Given the description of an element on the screen output the (x, y) to click on. 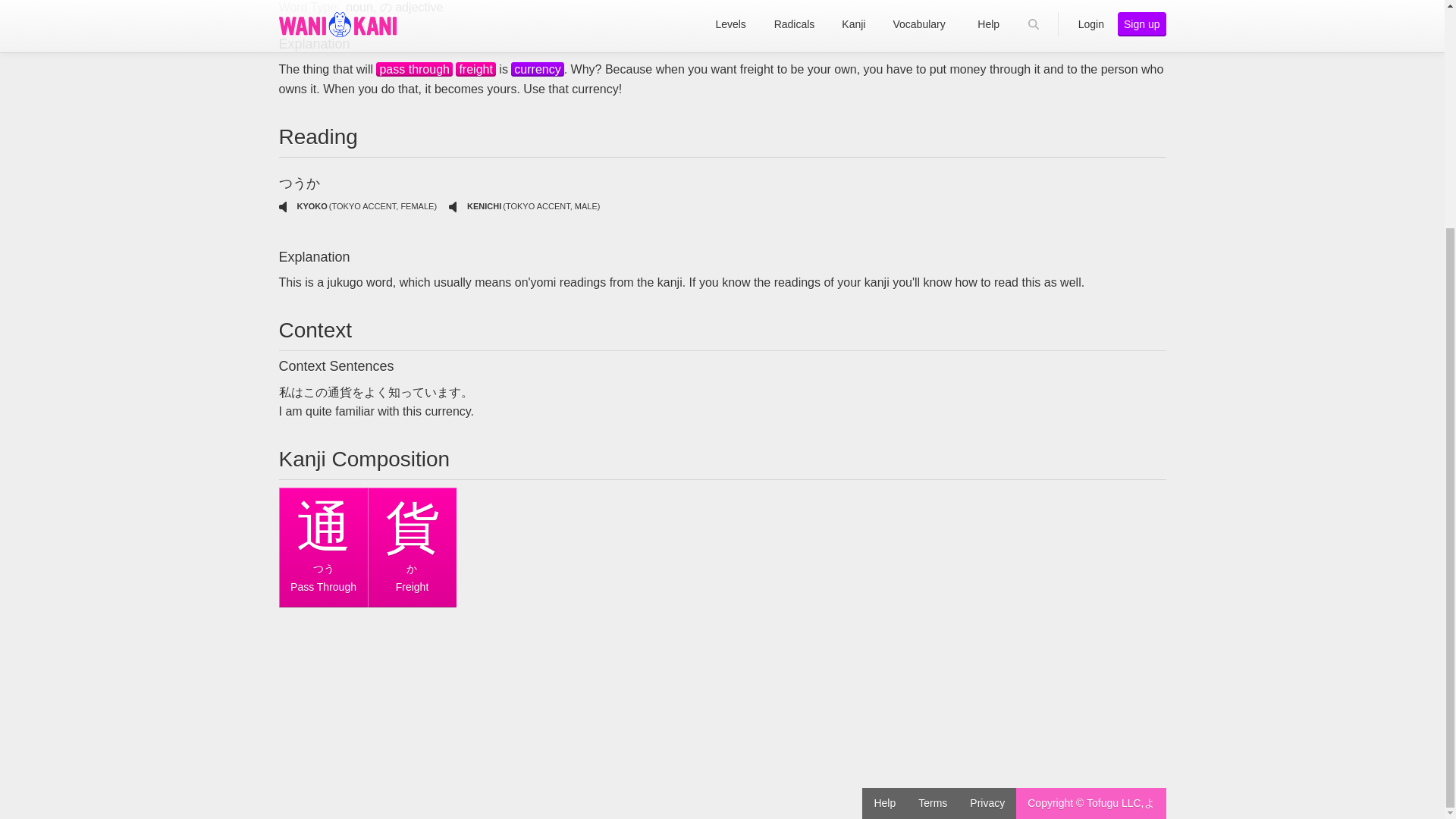
Kanji (475, 69)
Kanji (413, 69)
play audio (452, 206)
play audio (282, 206)
Vocabulary (537, 69)
